Given the description of an element on the screen output the (x, y) to click on. 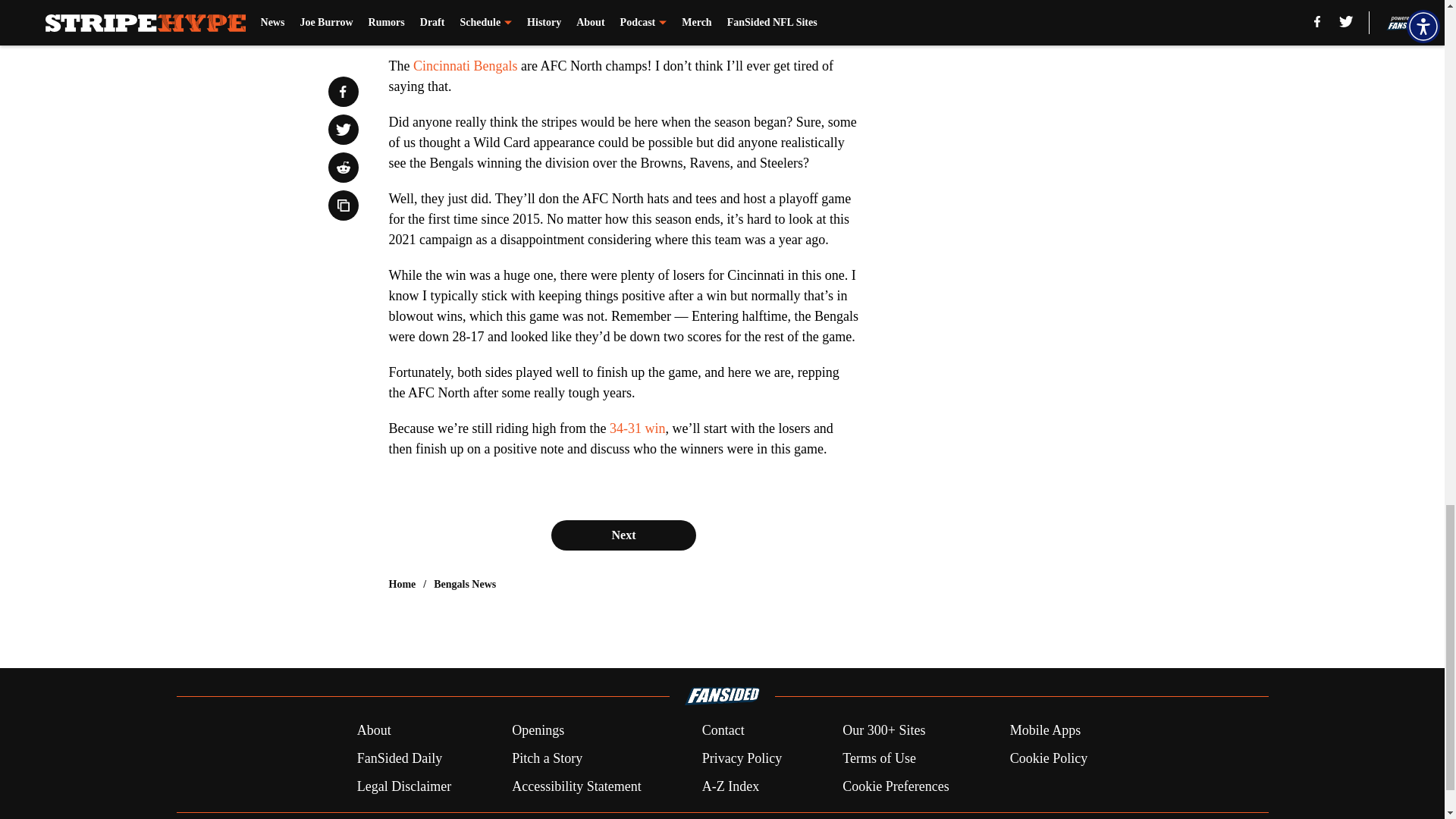
34-31 win (637, 427)
About (373, 730)
Cincinnati Bengals (464, 65)
Contact (722, 730)
Home (401, 584)
Mobile Apps (1045, 730)
Pitch a Story (547, 758)
Openings (538, 730)
FanSided Daily (399, 758)
Bengals News (464, 584)
